Given the description of an element on the screen output the (x, y) to click on. 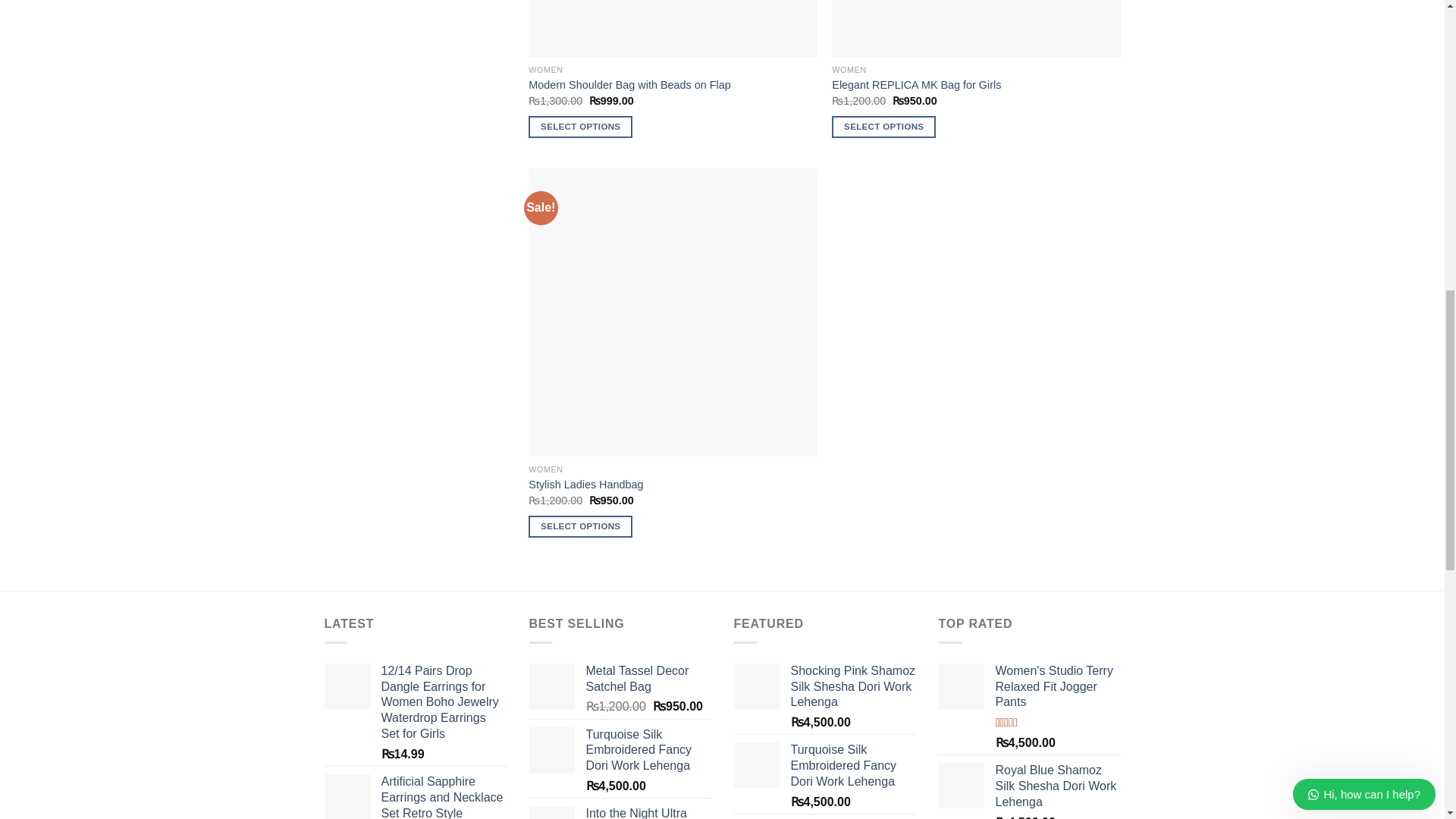
Modern Shoulder Bag with Beads on Flap 3 (672, 28)
Turquoise Silk Embroidered Fancy Dori Work Lehenga 11 (552, 750)
Metal Tassel Decor Satchel Bag 10 (552, 686)
Into the Night Ultra Shea Body Cream LATEST 12 (552, 812)
Elegant REPLICA MK Bag for Girls 4 (975, 28)
Stylish Ladies Handbag 5 (672, 312)
